Given the description of an element on the screen output the (x, y) to click on. 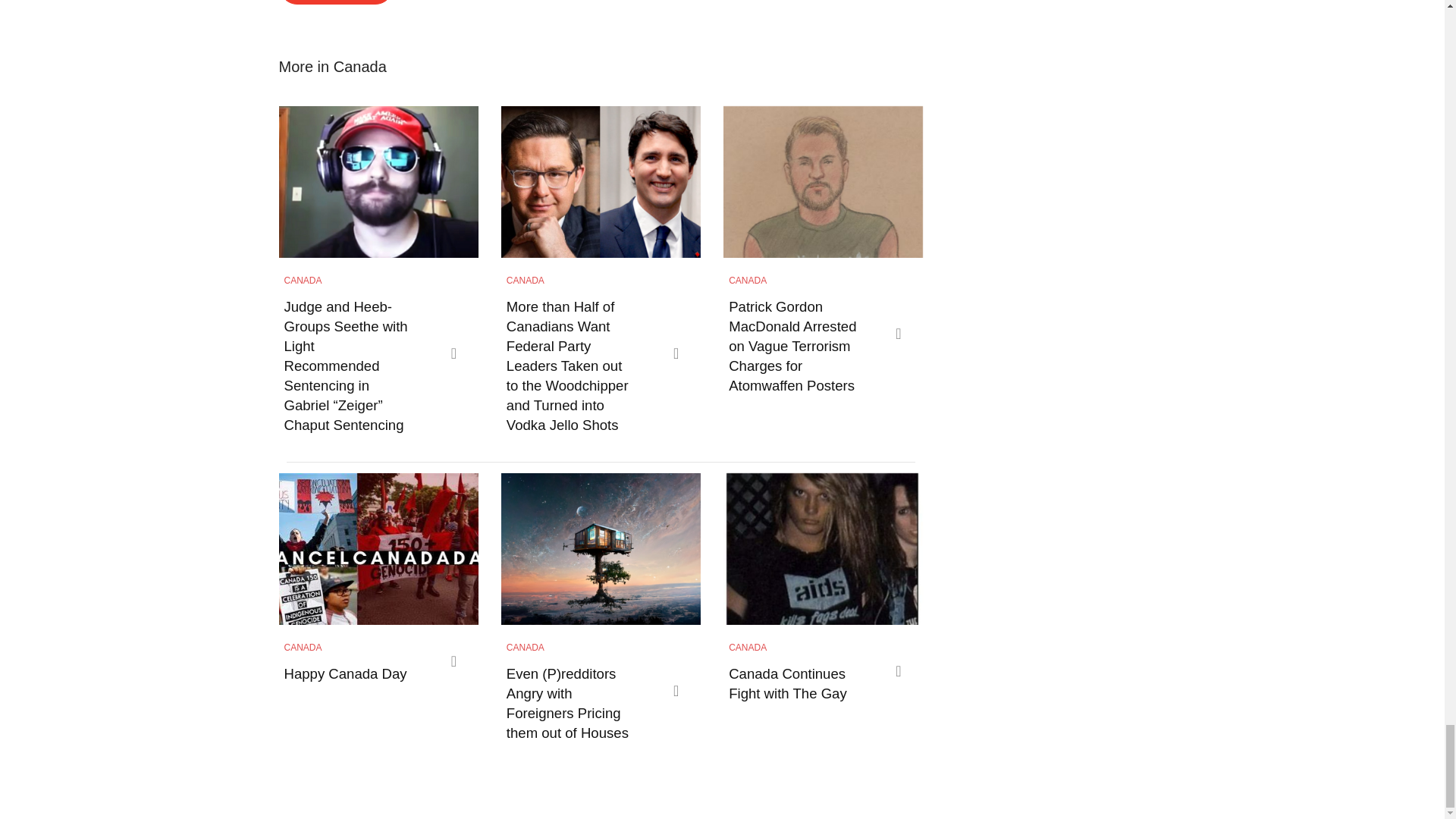
Post Comment (336, 2)
